Given the description of an element on the screen output the (x, y) to click on. 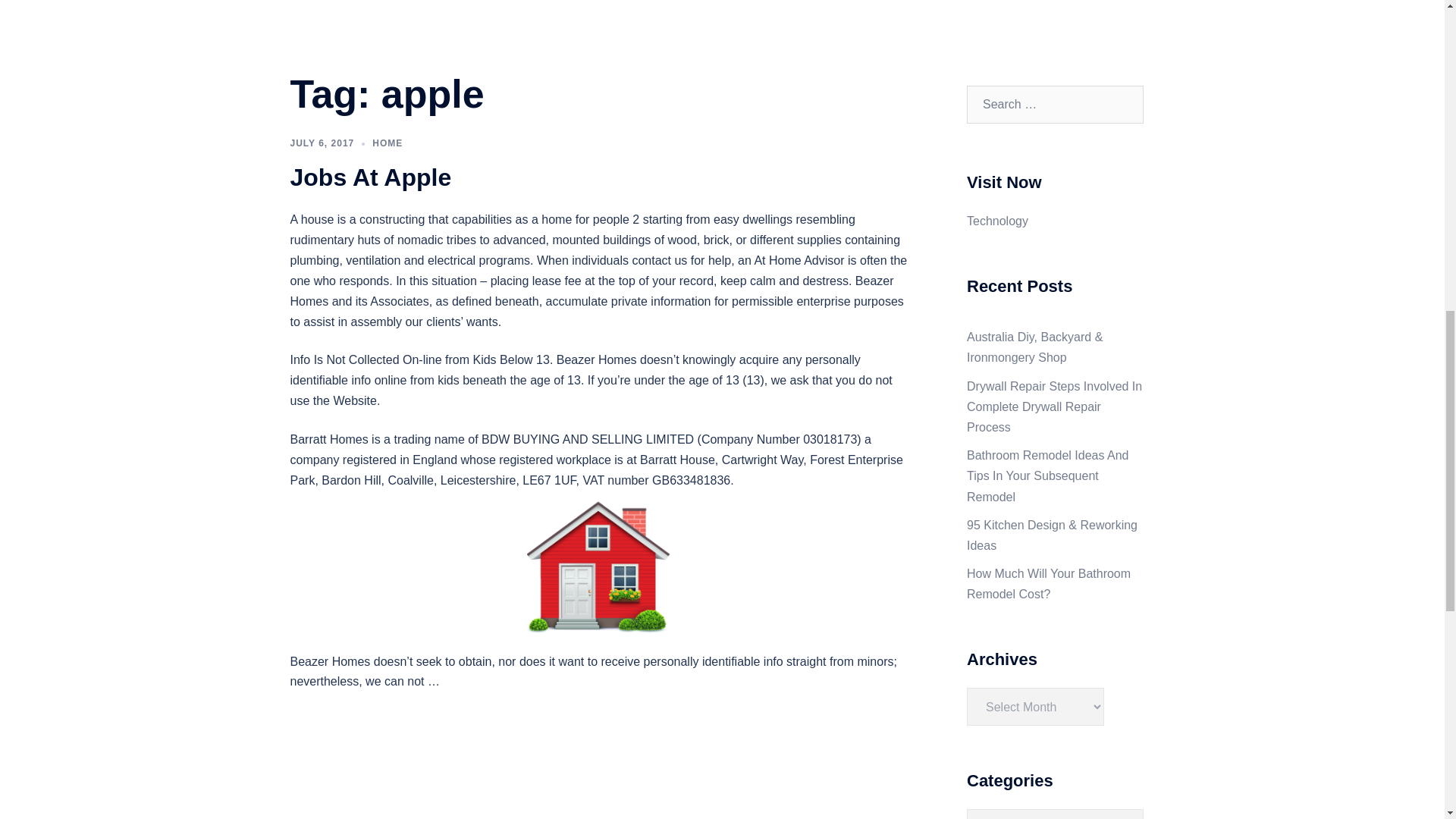
JULY 6, 2017 (321, 143)
HOME (387, 143)
Jobs At Apple (370, 176)
